Given the description of an element on the screen output the (x, y) to click on. 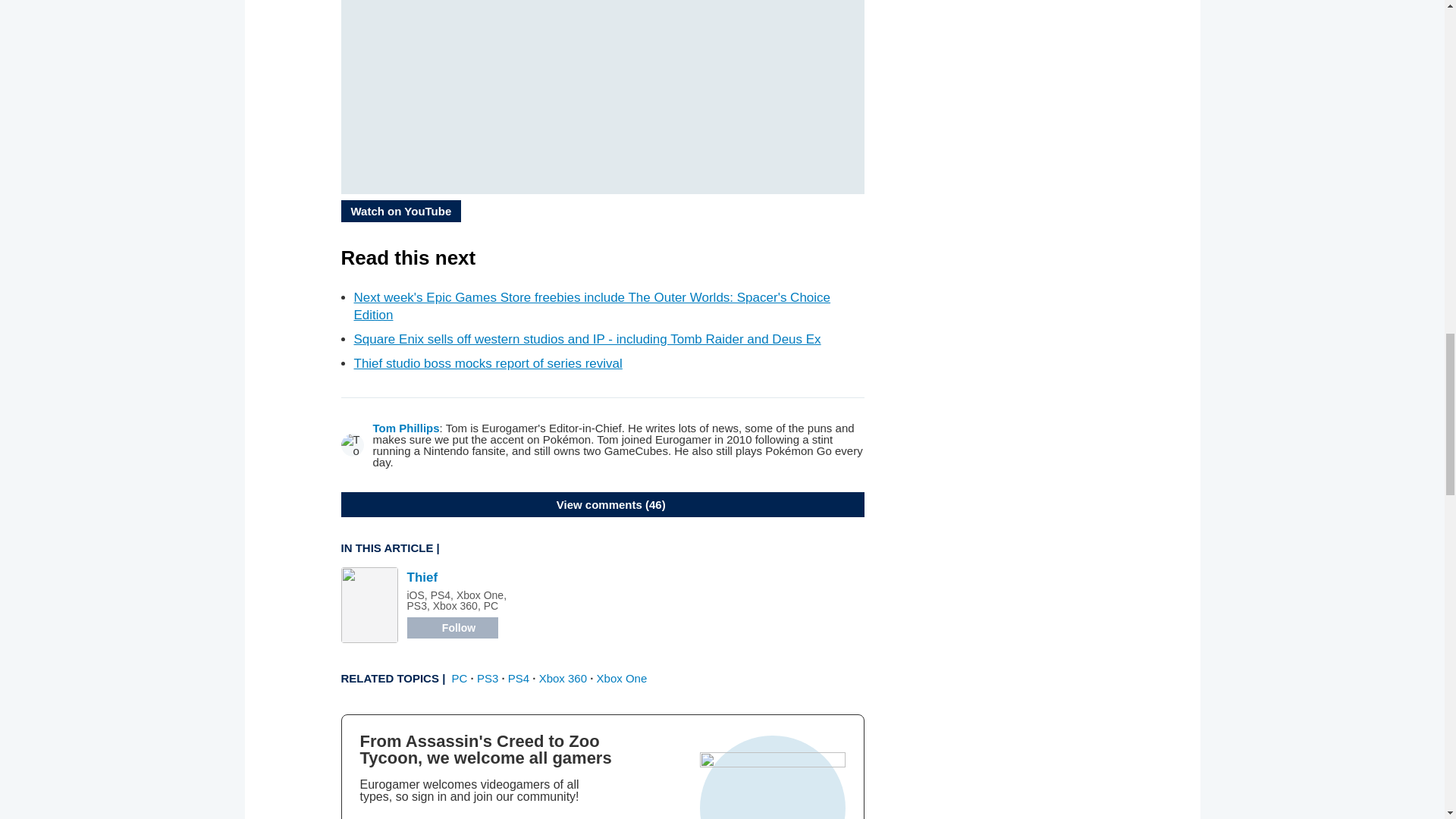
Follow (451, 627)
Thief studio boss mocks report of series revival (487, 363)
Thief (422, 577)
Watch on YouTube (400, 210)
Tom Phillips (405, 427)
